Given the description of an element on the screen output the (x, y) to click on. 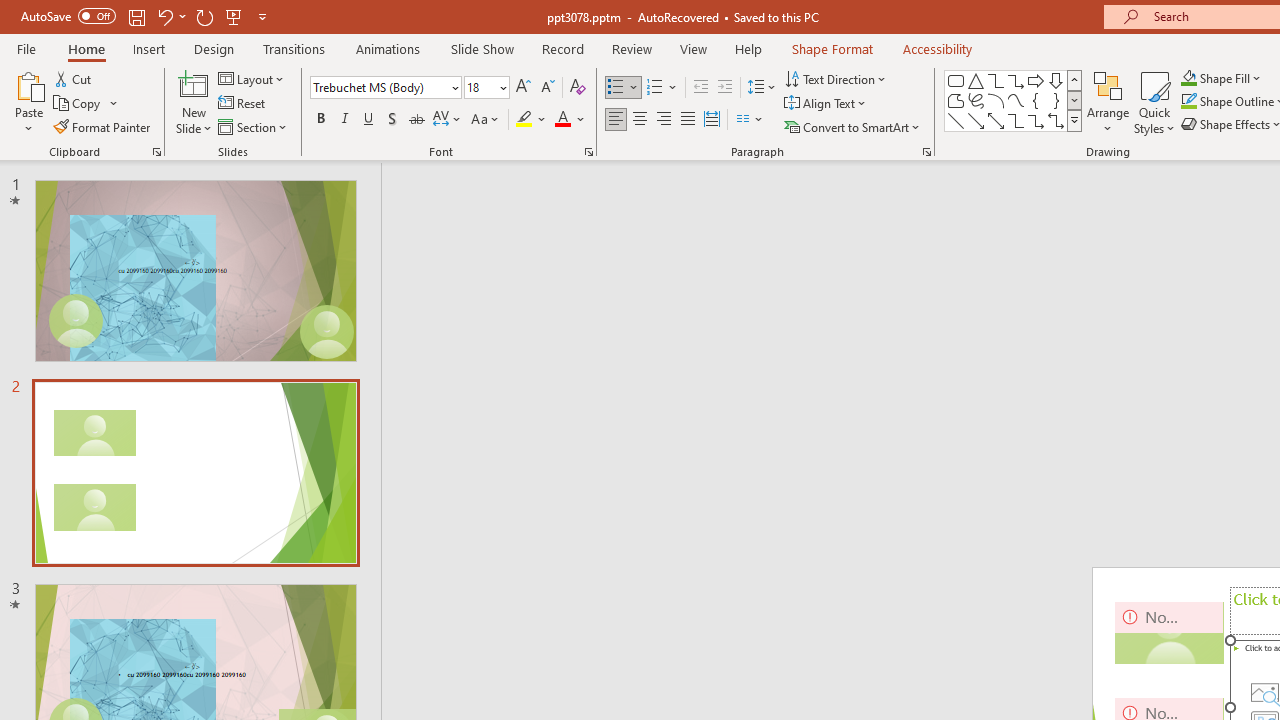
Line Arrow: Double (995, 120)
